Given the description of an element on the screen output the (x, y) to click on. 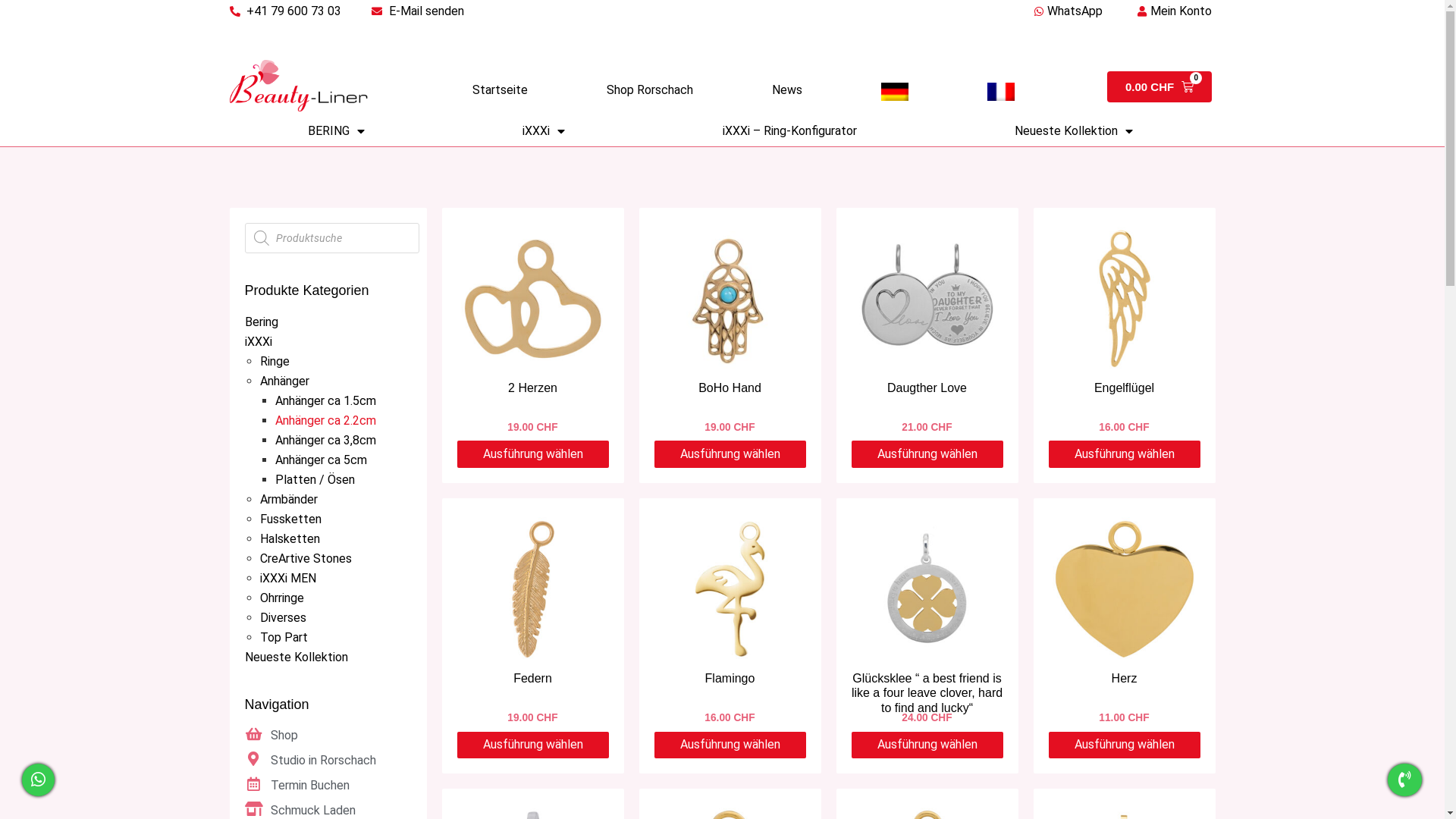
Fussketten Element type: text (289, 518)
Mein Konto Element type: text (1171, 44)
Ohrringe Element type: text (281, 597)
BoHo Hand
19.00 CHF Element type: text (729, 329)
iXXXi Element type: text (543, 131)
Top Part Element type: text (283, 637)
Studio in Rorschach Element type: text (327, 760)
Bering Element type: text (260, 321)
Termin Buchen Element type: text (327, 785)
Ringe Element type: text (273, 361)
Herz
11.00 CHF Element type: text (1123, 619)
Neueste Kollektion Element type: text (1073, 131)
Daugther Love
21.00 CHF Element type: text (926, 329)
BERING Element type: text (336, 131)
CreArtive Stones Element type: text (305, 558)
iXXXi Element type: text (257, 341)
2 Herzen
19.00 CHF Element type: text (532, 329)
WhatsApp Element type: text (1065, 11)
Shop Element type: text (327, 735)
Neueste Kollektion Element type: text (295, 656)
+41 79 600 73 03 Element type: text (285, 11)
News Element type: text (787, 90)
Startseite Element type: text (498, 90)
Shop Rorschach Element type: text (649, 90)
E-Mail senden Element type: text (417, 11)
Flamingo
16.00 CHF Element type: text (729, 619)
0.00 CHF Element type: text (1159, 86)
Halsketten Element type: text (289, 538)
Diverses Element type: text (282, 617)
iXXXi MEN Element type: text (287, 578)
Mein Konto Element type: text (1171, 11)
Federn
19.00 CHF Element type: text (532, 619)
